Given the description of an element on the screen output the (x, y) to click on. 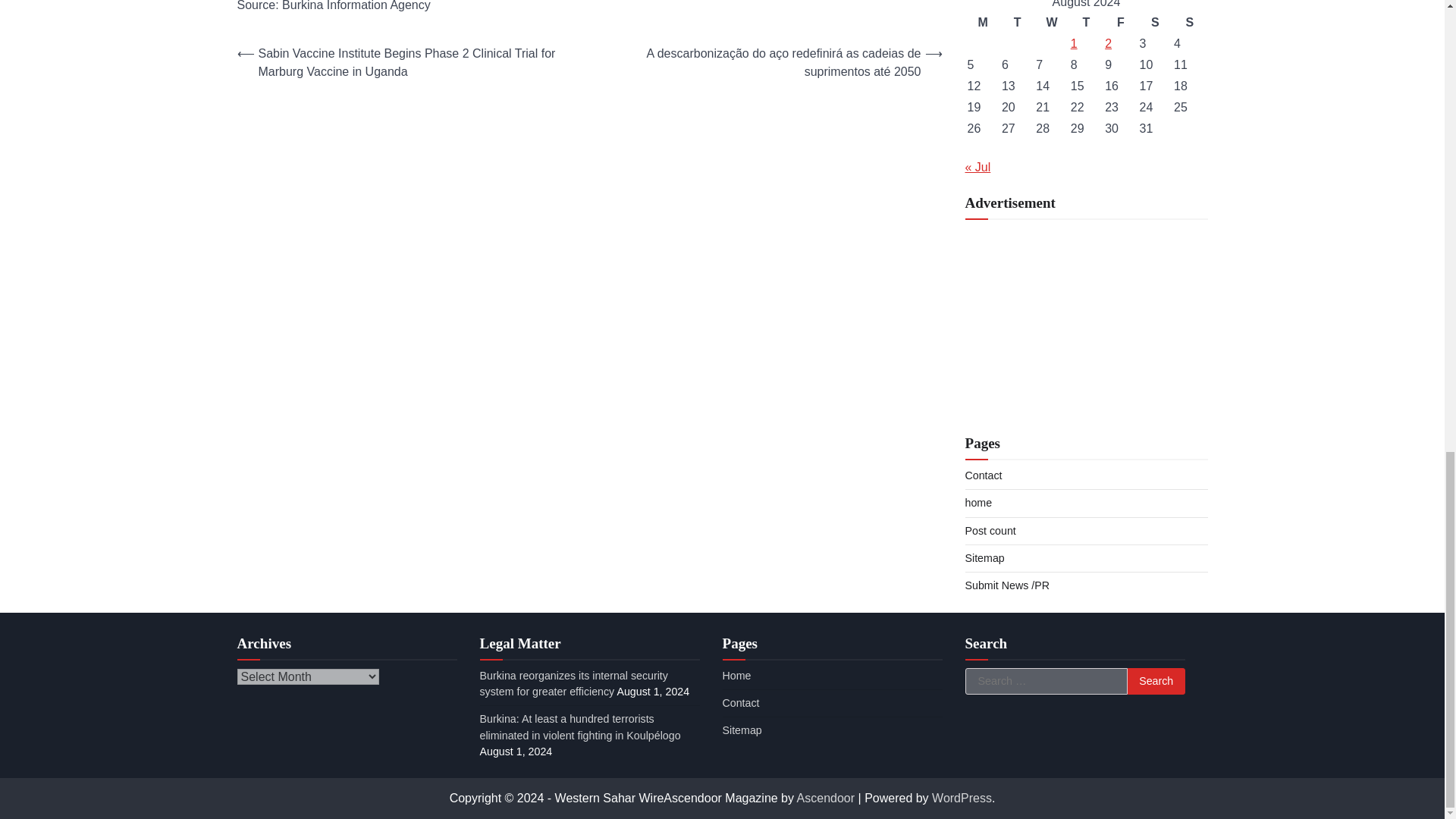
Contact (982, 475)
Thursday (1086, 22)
Saturday (1155, 22)
Sunday (1189, 22)
Friday (1120, 22)
Sitemap (983, 558)
Wednesday (1051, 22)
Search (1155, 681)
Tuesday (1017, 22)
Search (1155, 681)
